Given the description of an element on the screen output the (x, y) to click on. 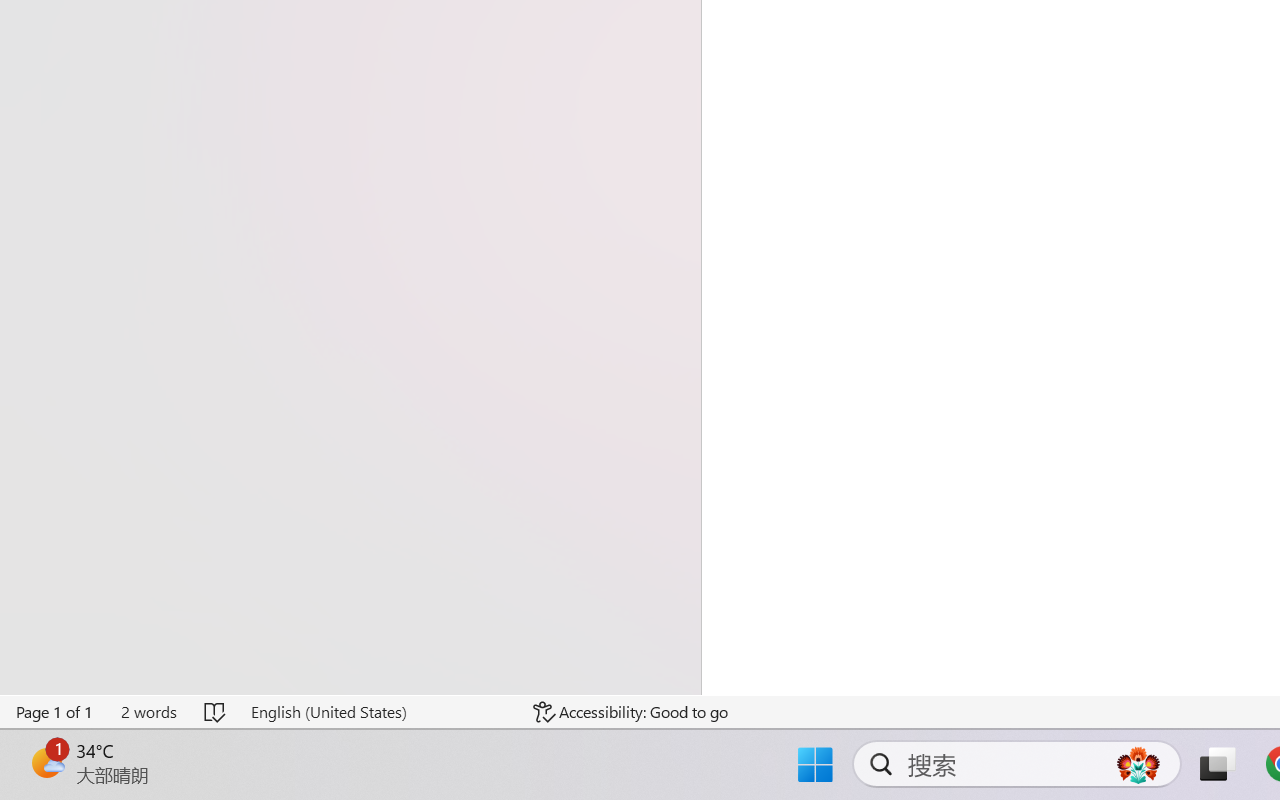
Page Number Page 1 of 1 (55, 712)
